Given the description of an element on the screen output the (x, y) to click on. 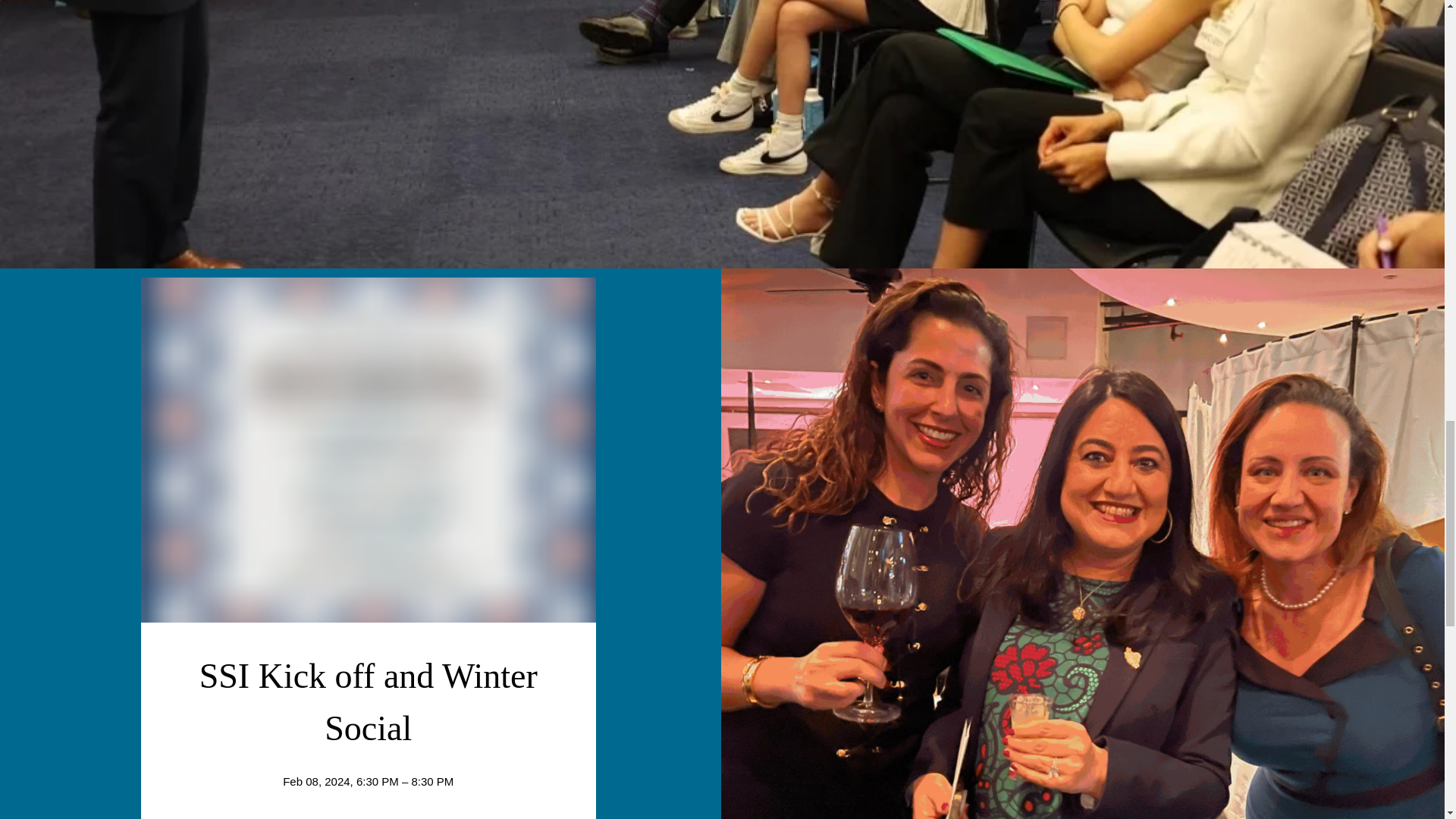
SSI Kick off and Winter Social (373, 701)
